Given the description of an element on the screen output the (x, y) to click on. 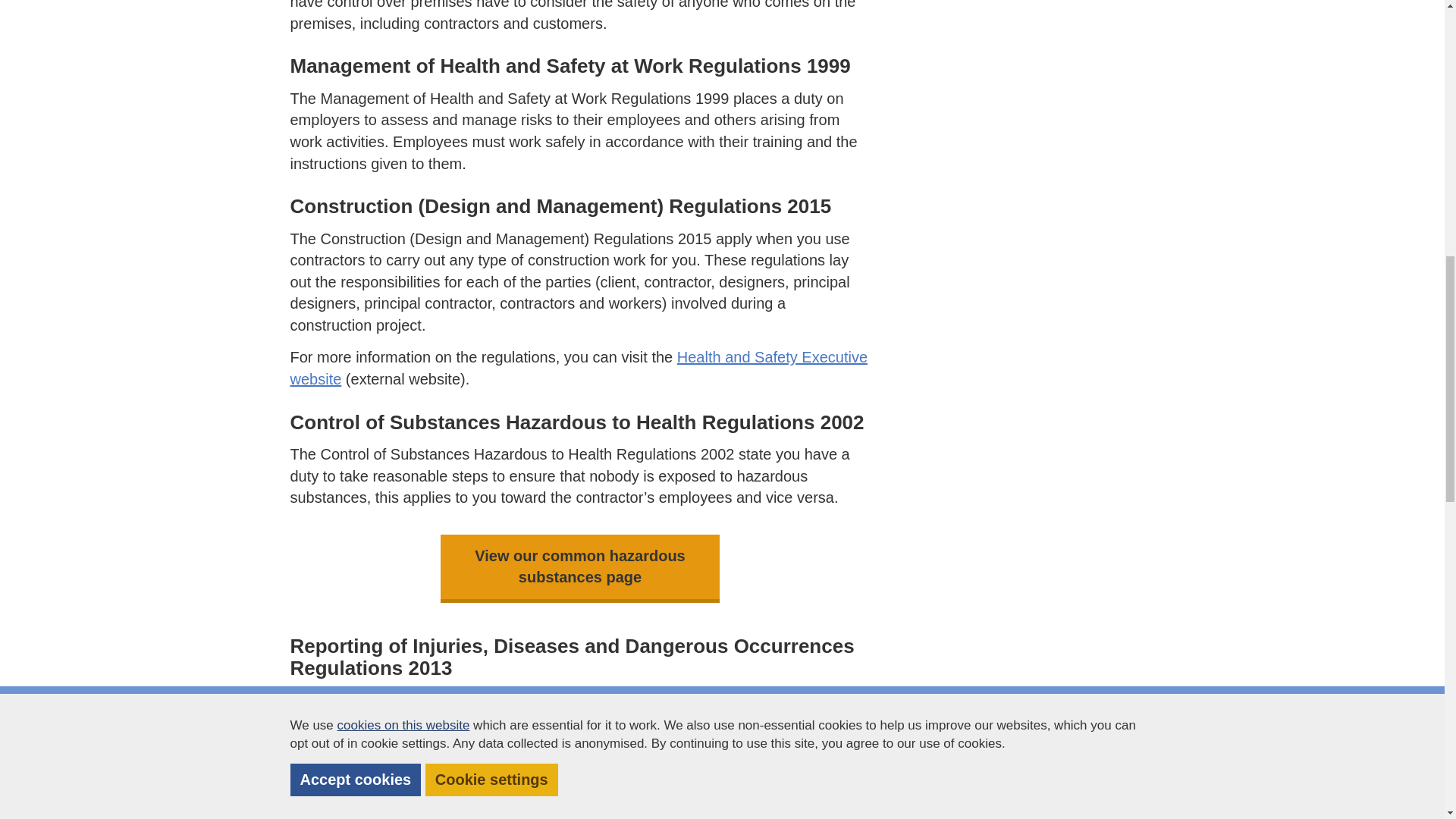
View our common hazardous substances page (580, 566)
Health and Safety Executive website (578, 367)
Health and Safety Executive website (578, 367)
